Given the description of an element on the screen output the (x, y) to click on. 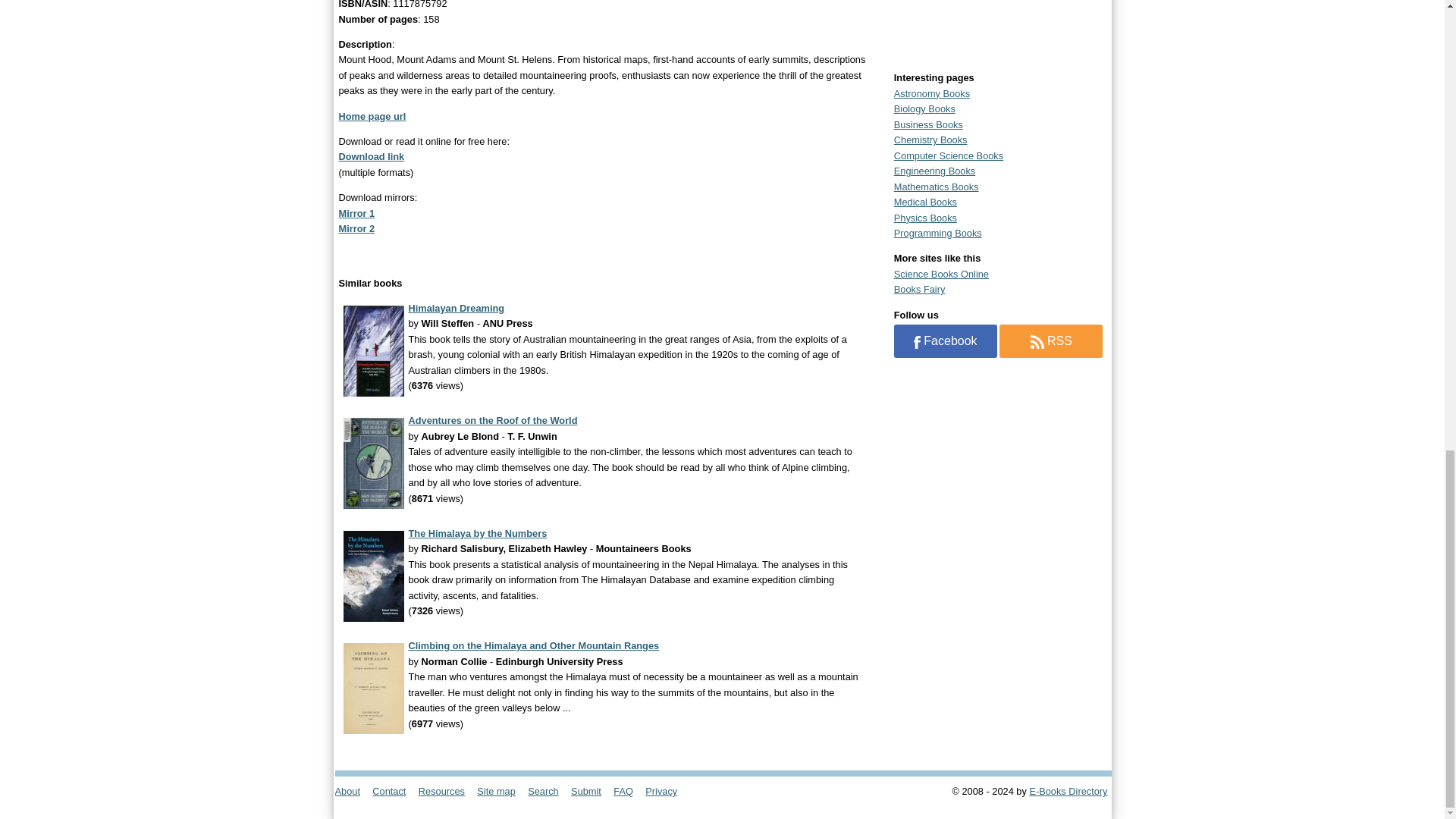
Site map (500, 790)
Search (547, 790)
Contact (393, 790)
Adventures on the Roof of the World (491, 419)
Home page url (371, 116)
Mirror 1 (355, 213)
Submit (590, 790)
Download link (370, 156)
Resources (446, 790)
About (351, 790)
Climbing on the Himalaya and Other Mountain Ranges (533, 645)
FAQ (627, 790)
Privacy (666, 790)
The Himalaya by the Numbers (477, 532)
Himalayan Dreaming (455, 307)
